Given the description of an element on the screen output the (x, y) to click on. 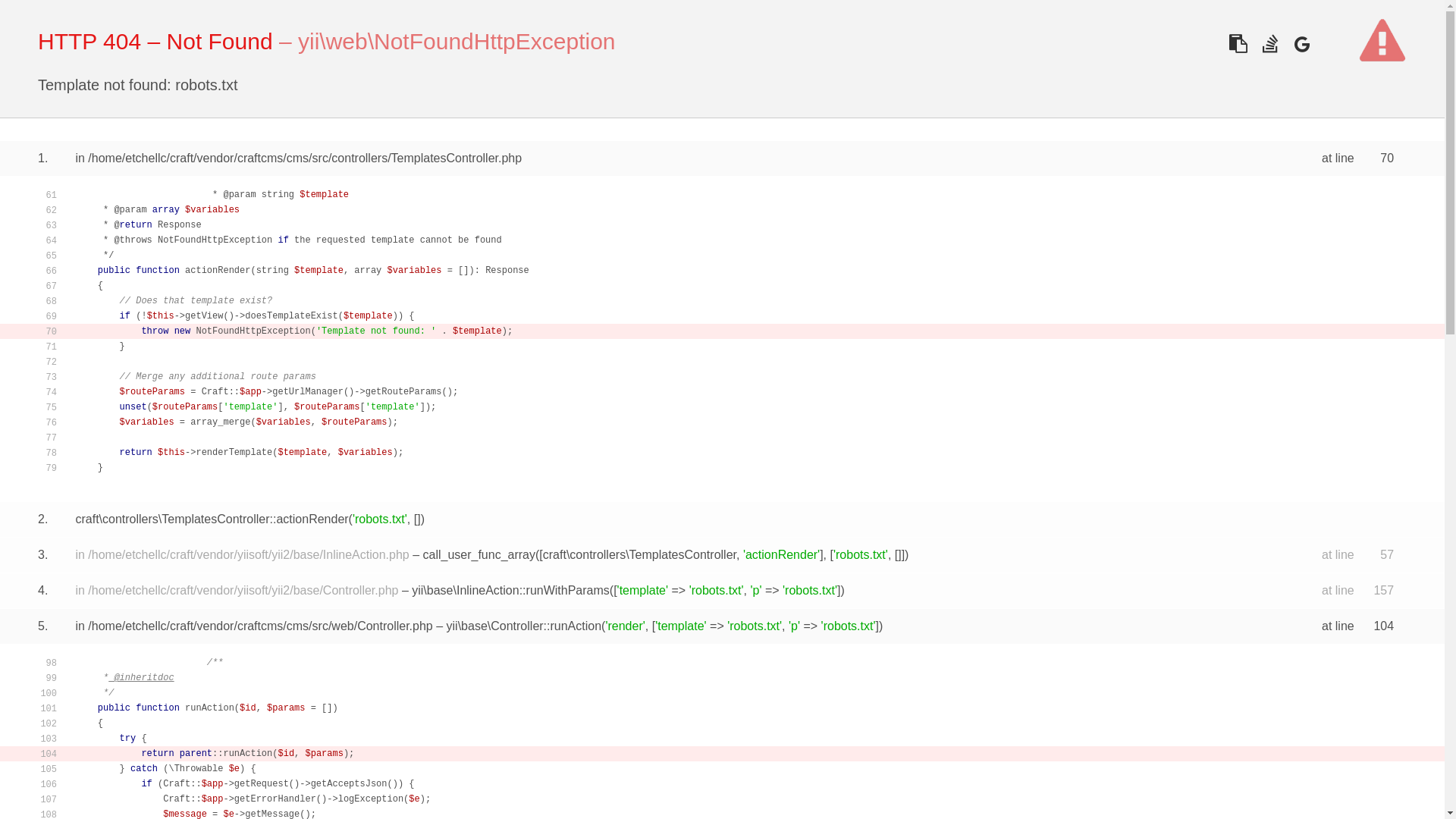
Search error on Stackoverflow Element type: hover (1269, 43)
Copy the stacktrace for use in a bug report or pastebin Element type: hover (1237, 43)
yii\base\InlineAction::runWithParams Element type: text (510, 589)
Search error on Google Element type: hover (1301, 43)
yii\web\NotFoundHttpException Element type: text (456, 40)
yii\base\Controller::runAction Element type: text (524, 625)
